Given the description of an element on the screen output the (x, y) to click on. 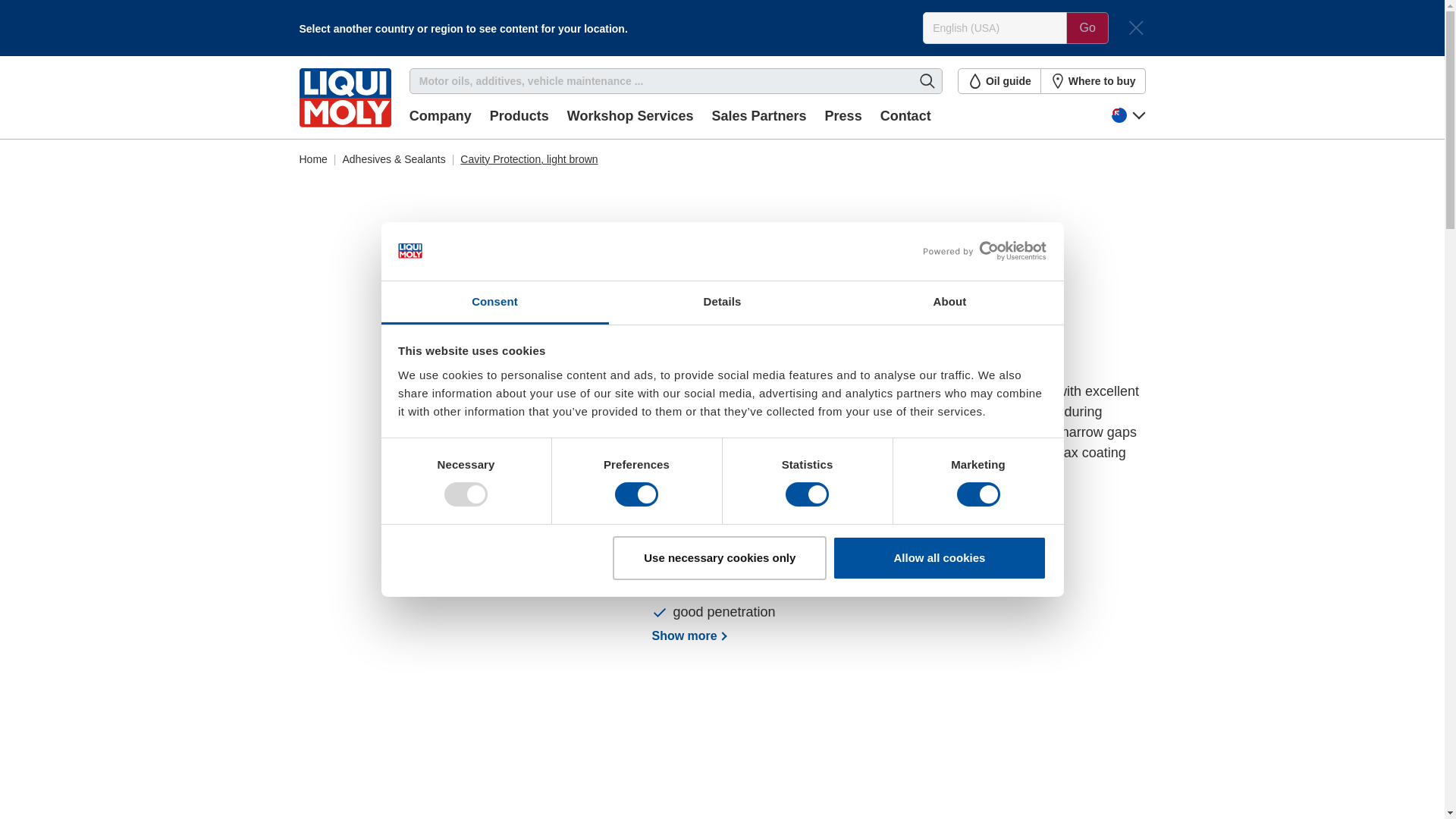
About (948, 302)
Details (721, 302)
Consent (494, 302)
